Given the description of an element on the screen output the (x, y) to click on. 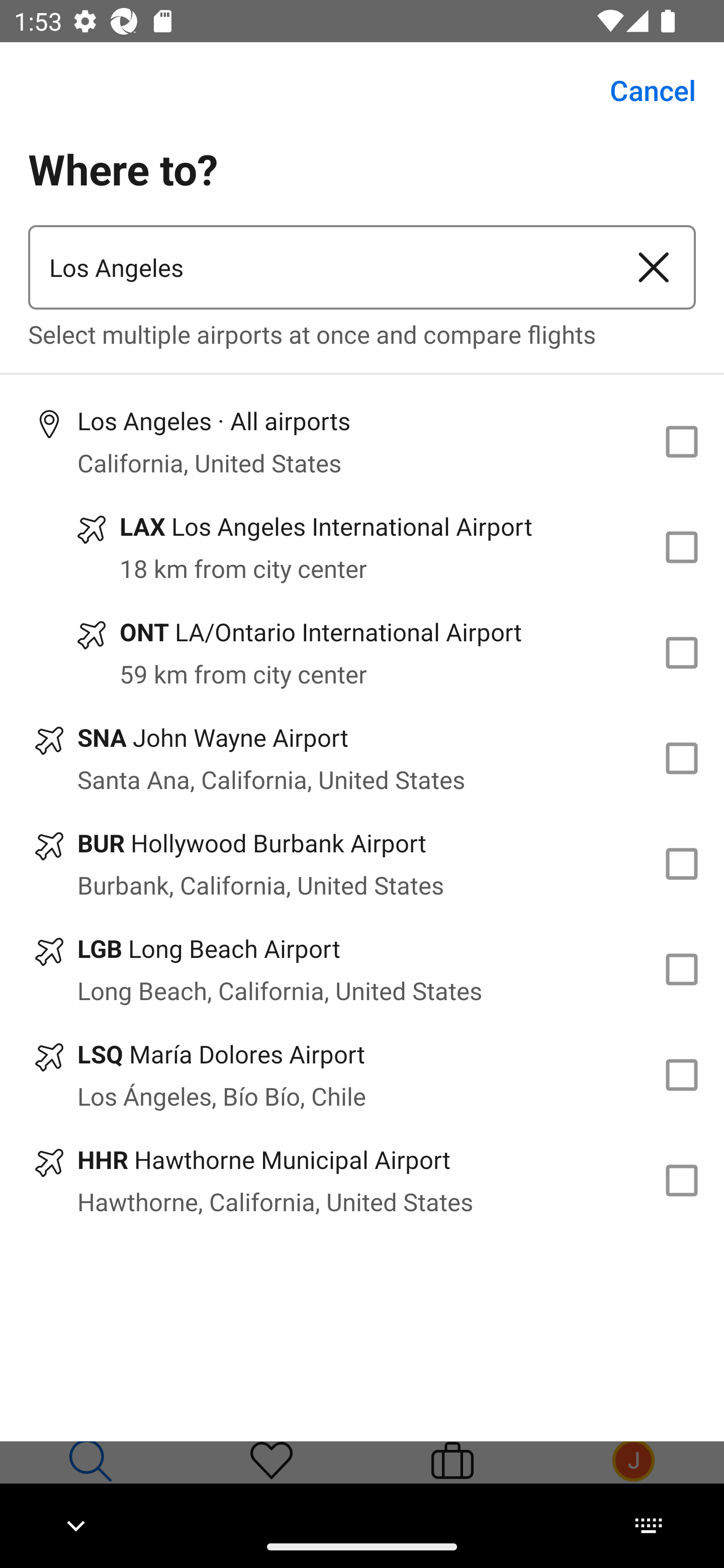
Cancel (641, 90)
Los Angeles (319, 266)
Clear airport or city (653, 266)
